Given the description of an element on the screen output the (x, y) to click on. 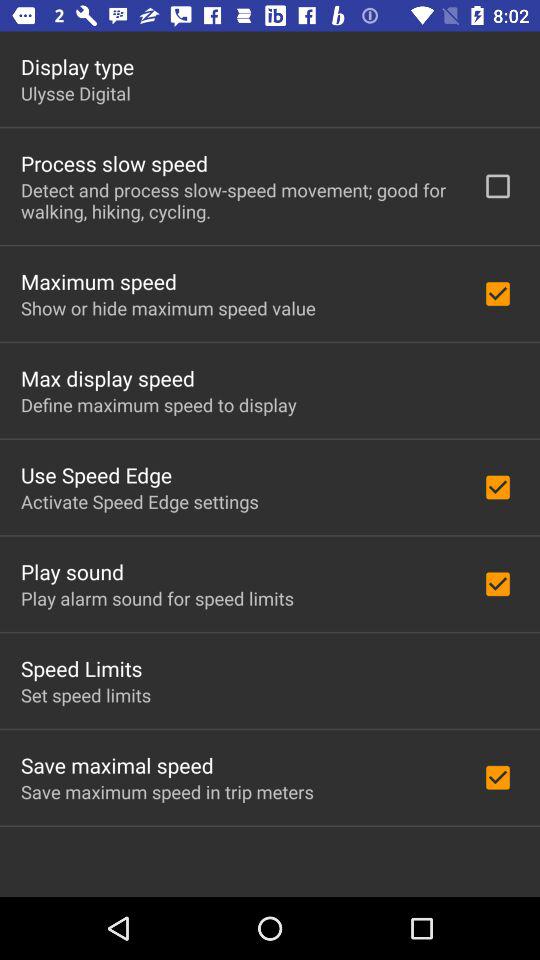
choose ulysse digital (75, 93)
